Given the description of an element on the screen output the (x, y) to click on. 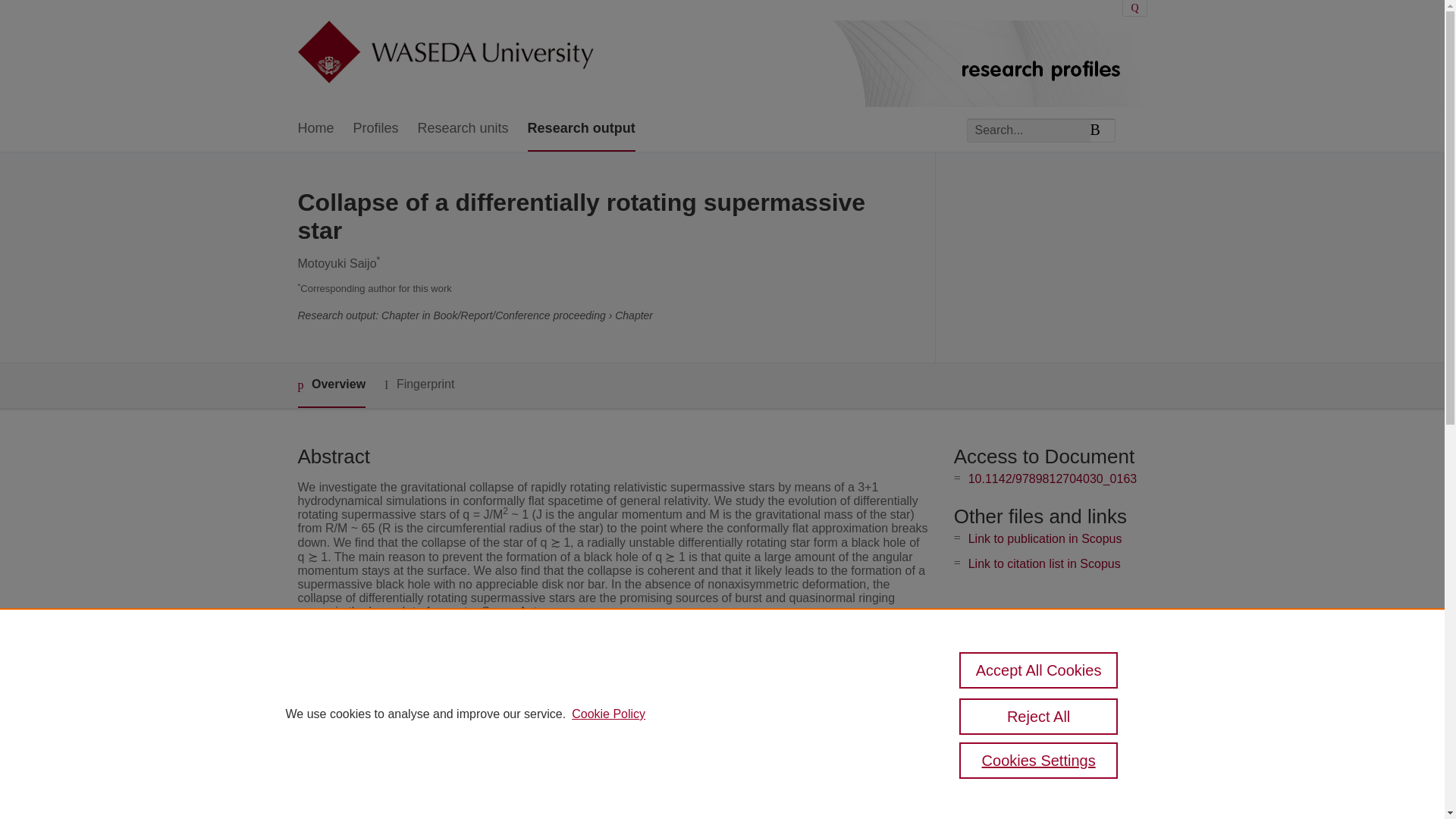
Overview (331, 385)
Cookie Policy (608, 713)
Research output (580, 129)
World Scientific Publishing Co. (590, 715)
Fingerprint (419, 384)
Link to citation list in Scopus (1044, 563)
Link to publication in Scopus (1045, 538)
Waseda University Home (444, 53)
Cookies Settings (1038, 760)
